Given the description of an element on the screen output the (x, y) to click on. 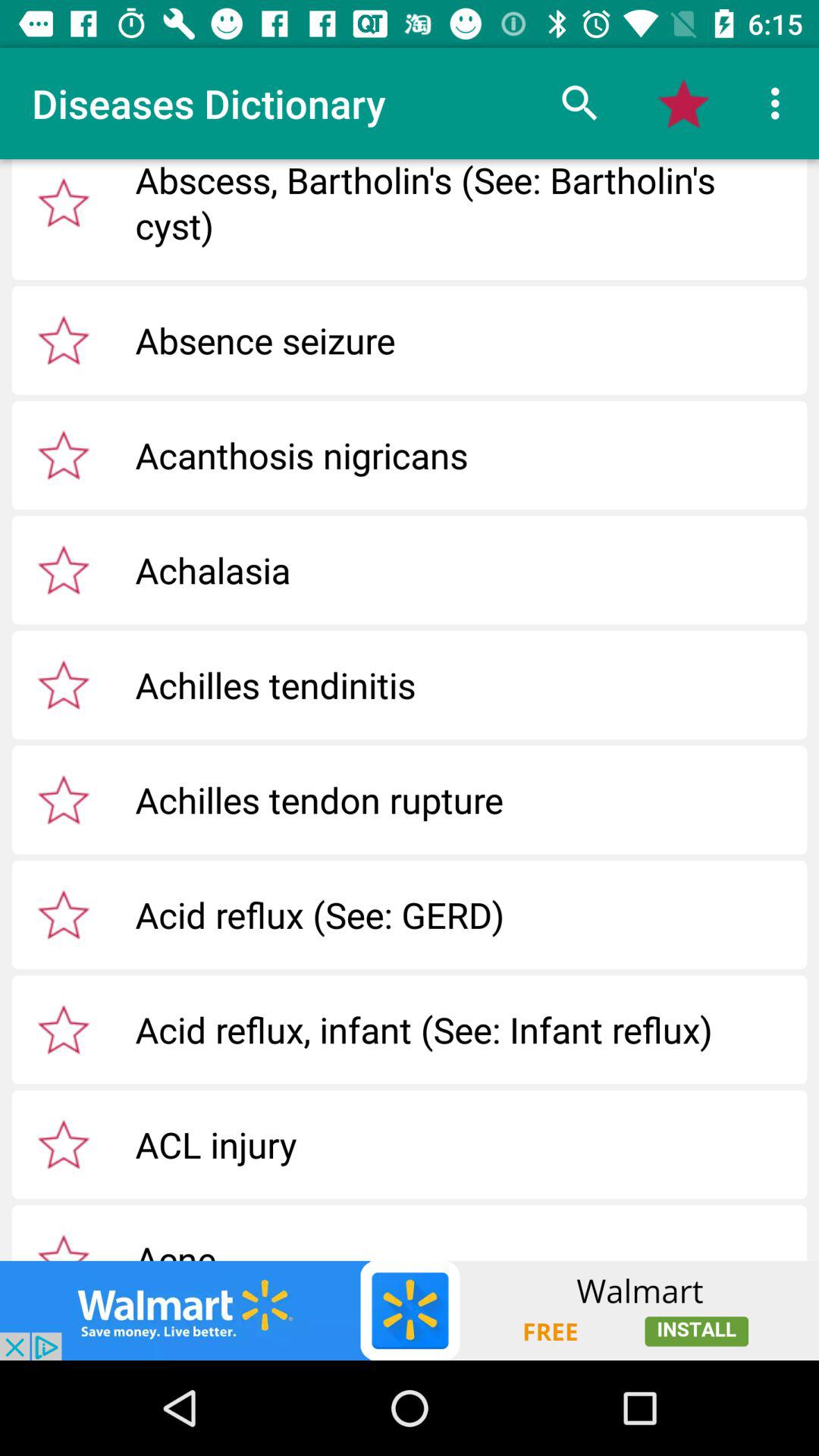
favorite item (63, 454)
